Given the description of an element on the screen output the (x, y) to click on. 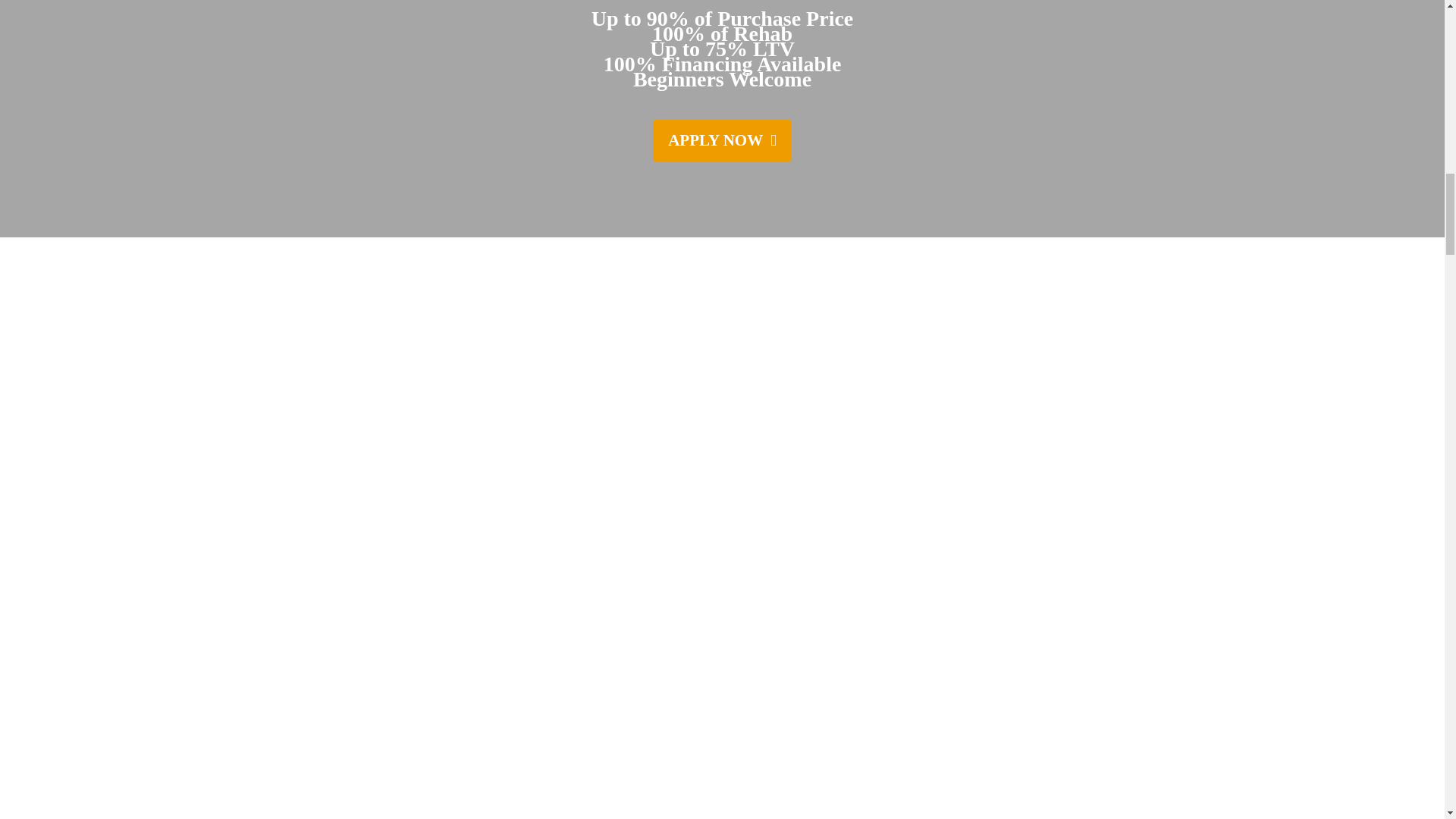
APPLY NOW (722, 140)
